Given the description of an element on the screen output the (x, y) to click on. 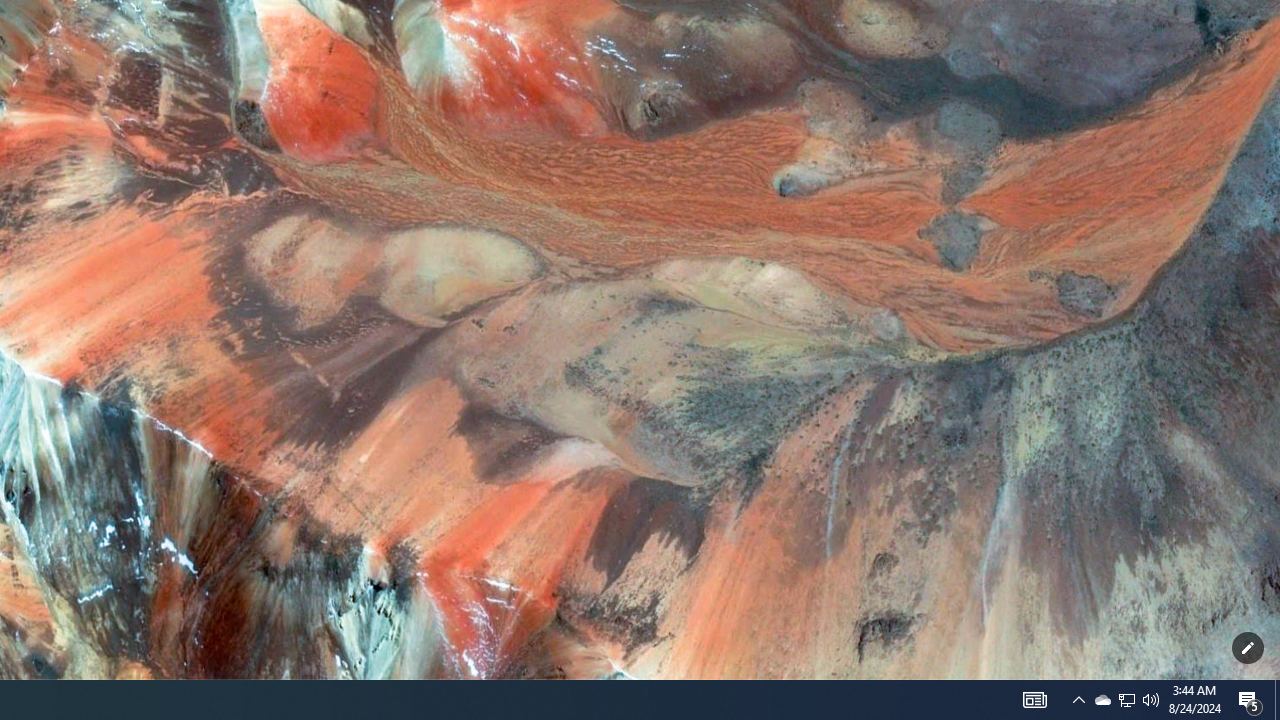
Customize this page (1247, 647)
